Given the description of an element on the screen output the (x, y) to click on. 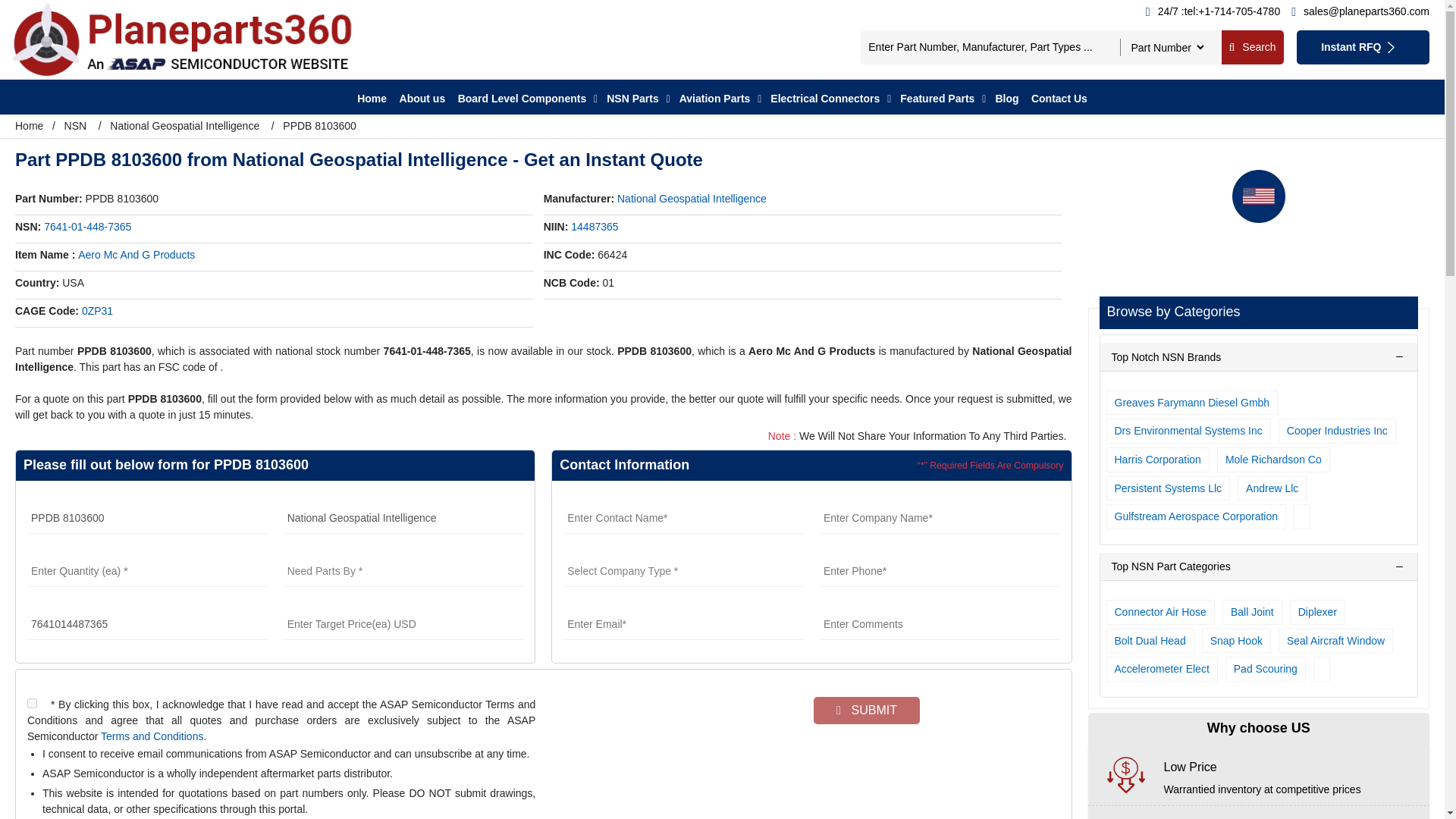
Home (371, 98)
NSN Parts (632, 98)
Featured Parts (936, 98)
on (32, 703)
PPDB 8103600 (147, 518)
Instant RFQ (1363, 47)
Board Level Components (521, 98)
Blog (1006, 98)
Electrical Connectors (824, 98)
Search (1251, 47)
